Given the description of an element on the screen output the (x, y) to click on. 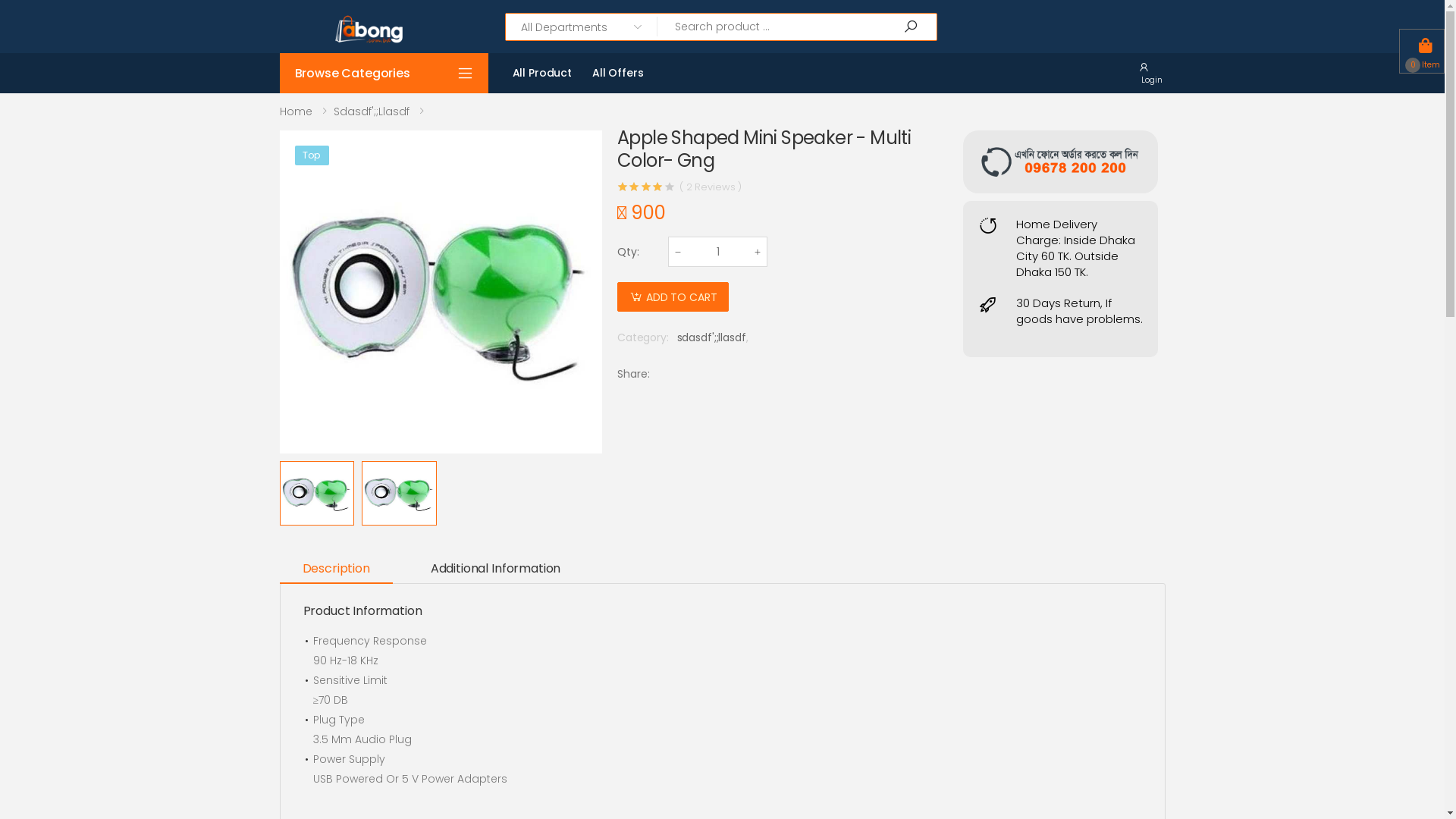
Description Element type: text (335, 569)
All Product Element type: text (542, 73)
( 2 Reviews ) Element type: text (710, 186)
Login Element type: text (1151, 73)
Home Element type: text (295, 111)
0
Item Element type: text (1421, 48)
ADD TO CART Element type: text (672, 296)
Additional Information Element type: text (495, 569)
Browse Categories Element type: text (383, 73)
All Offers Element type: text (617, 73)
Sdasdf';;Llasdf Element type: text (371, 111)
sdasdf';;llasdf Element type: text (711, 337)
